Given the description of an element on the screen output the (x, y) to click on. 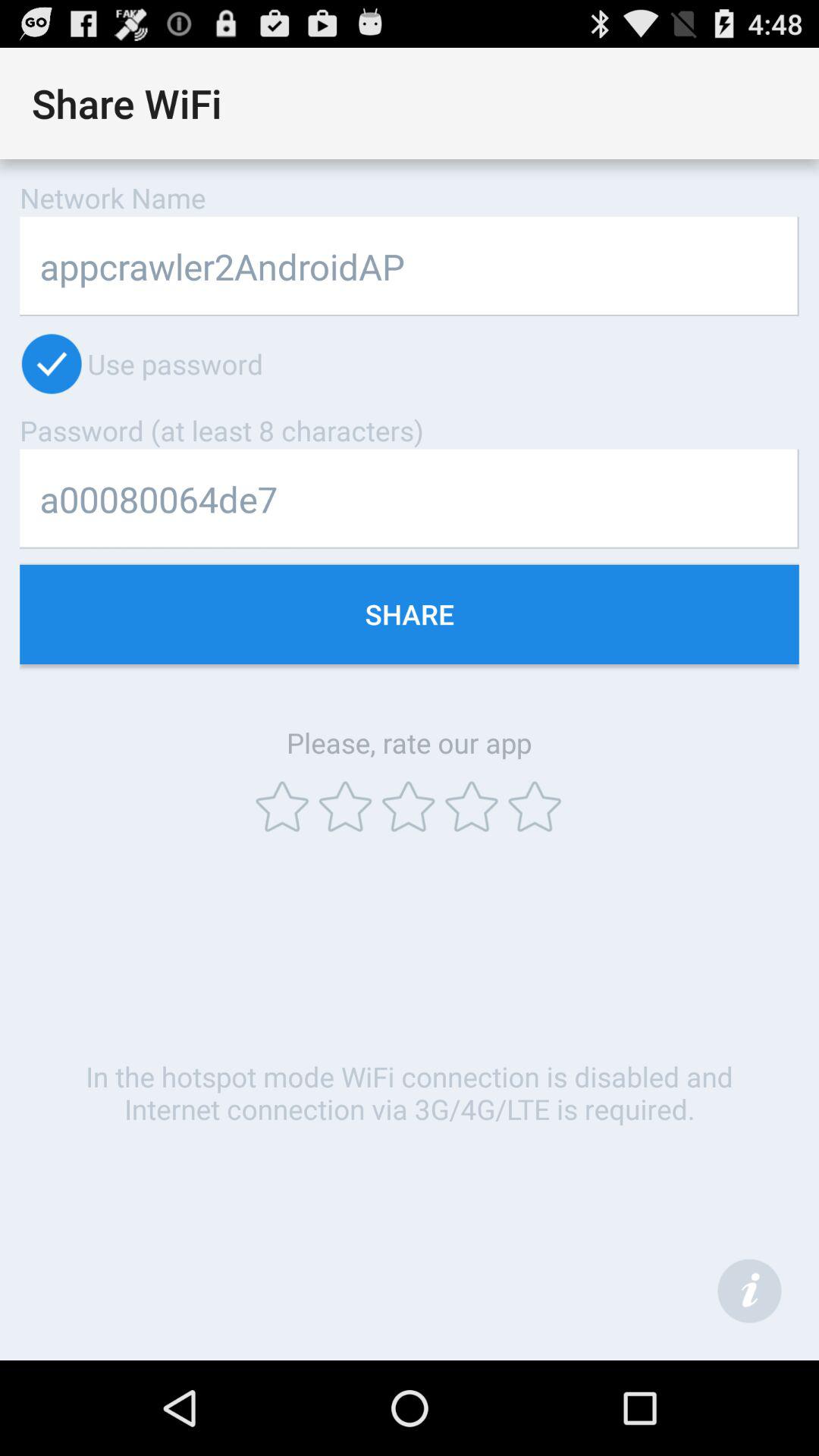
launch the item below network name item (409, 266)
